Given the description of an element on the screen output the (x, y) to click on. 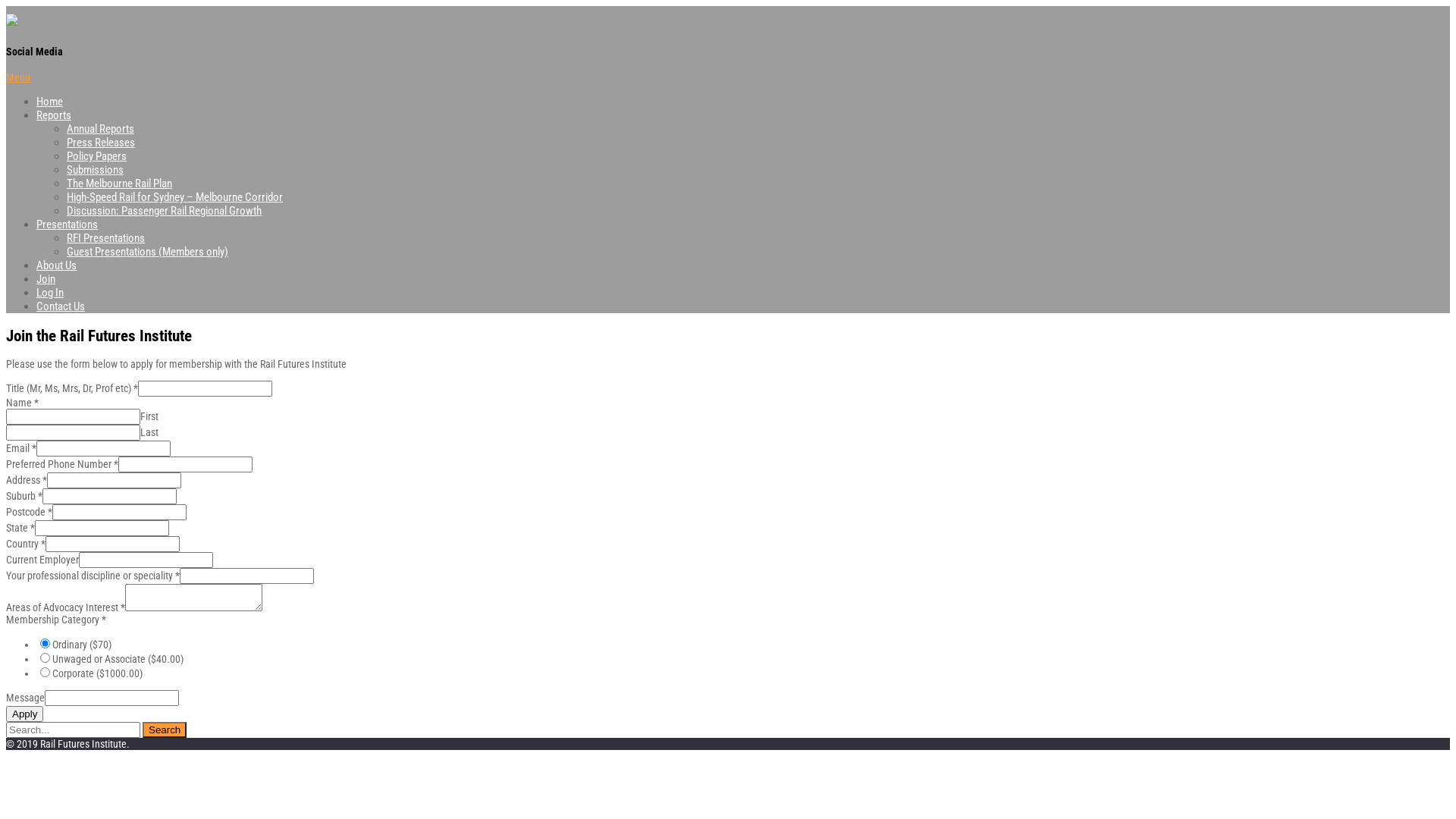
Join Element type: text (45, 278)
Reports Element type: text (53, 115)
Annual Reports Element type: text (100, 128)
Home Element type: text (49, 101)
Policy Papers Element type: text (96, 156)
Discussion: Passenger Rail Regional Growth Element type: text (163, 210)
Log In Element type: text (49, 292)
Menu Element type: text (18, 77)
Contact Us Element type: text (60, 306)
Guest Presentations (Members only) Element type: text (147, 251)
Submissions Element type: text (94, 169)
RFI Presentations Element type: text (105, 237)
The Melbourne Rail Plan Element type: text (119, 183)
Presentations Element type: text (66, 224)
Press Releases Element type: text (100, 142)
Search Element type: text (164, 729)
About Us Element type: text (56, 265)
Apply Element type: text (24, 713)
